Given the description of an element on the screen output the (x, y) to click on. 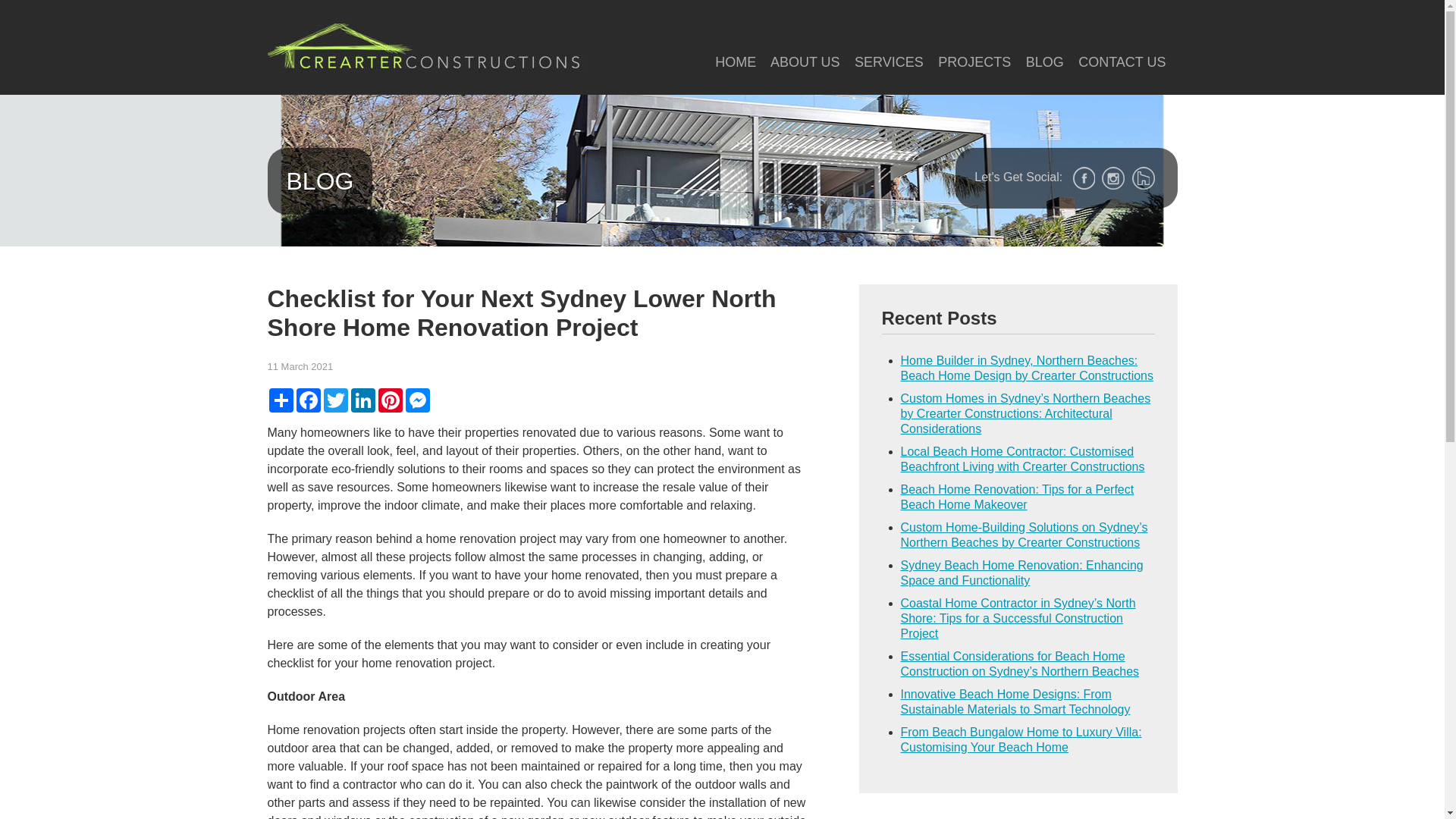
Facebook Element type: text (307, 400)
ABOUT US Element type: text (805, 61)
Pinterest Element type: text (389, 400)
PROJECTS Element type: text (974, 61)
HOME Element type: text (735, 61)
Twitter Element type: text (334, 400)
CONTACT US Element type: text (1121, 61)
Share Element type: text (280, 400)
LinkedIn Element type: text (362, 400)
Messenger Element type: text (416, 400)
SERVICES Element type: text (888, 61)
BLOG Element type: text (1044, 61)
